Given the description of an element on the screen output the (x, y) to click on. 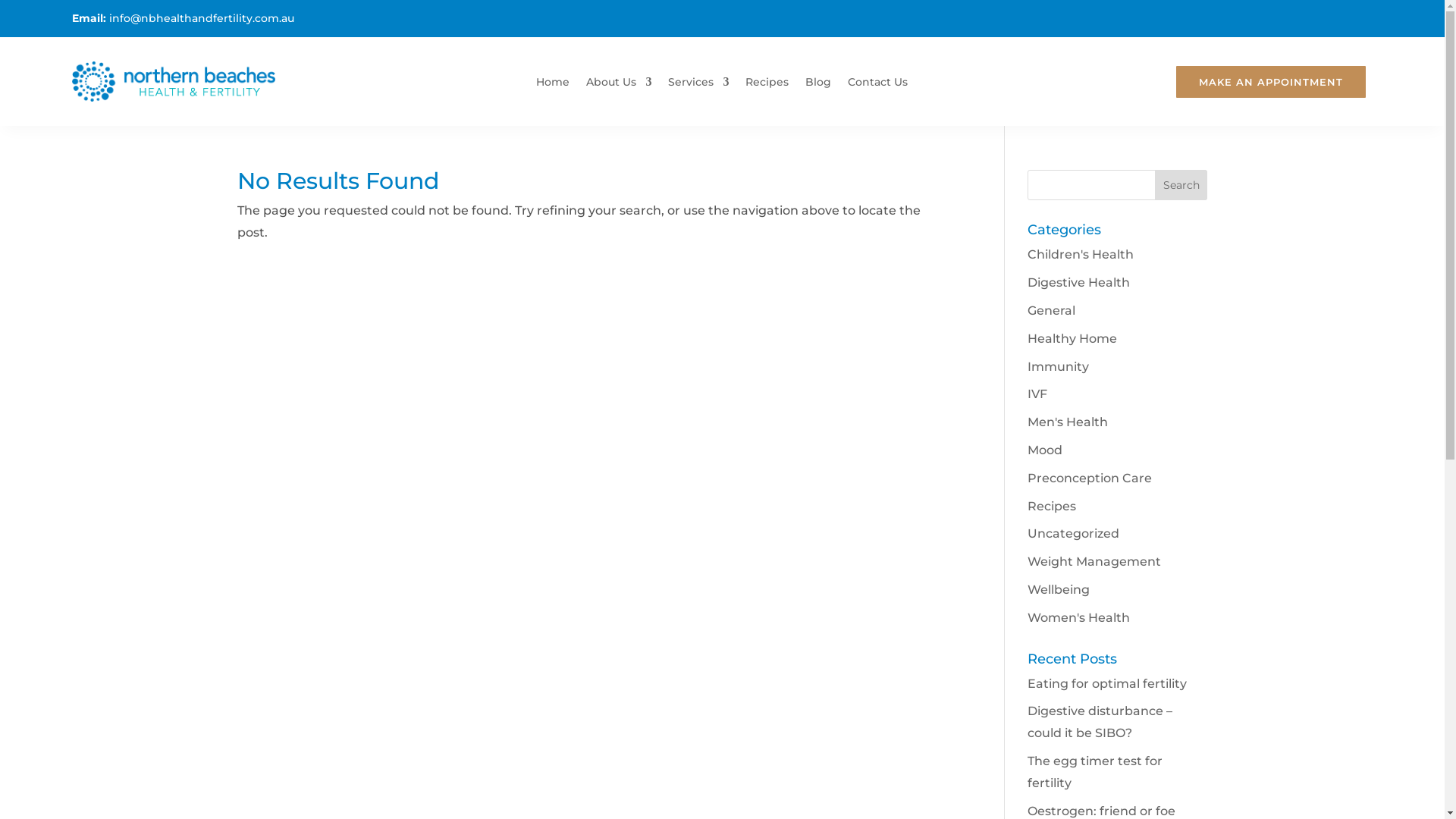
Uncategorized Element type: text (1073, 533)
Healthy Home Element type: text (1072, 338)
Preconception Care Element type: text (1089, 477)
IVF Element type: text (1037, 393)
Eating for optimal fertility Element type: text (1106, 683)
Services Element type: text (698, 84)
Weight Management Element type: text (1094, 561)
Wellbeing Element type: text (1058, 589)
Recipes Element type: text (1051, 505)
The egg timer test for fertility Element type: text (1094, 771)
Immunity Element type: text (1057, 366)
Northern Beaches Fertility & Naturopath Clinic Element type: hover (173, 81)
Search Element type: text (1181, 184)
Contact Us Element type: text (877, 84)
Mood Element type: text (1044, 449)
General Element type: text (1051, 310)
Children's Health Element type: text (1080, 254)
Recipes Element type: text (766, 84)
Oestrogen: friend or foe Element type: text (1101, 810)
About Us Element type: text (618, 84)
MAKE AN APPOINTMENT Element type: text (1270, 81)
Digestive Health Element type: text (1078, 282)
Men's Health Element type: text (1067, 421)
Women's Health Element type: text (1078, 617)
info@nbhealthandfertility.com.au Element type: text (201, 18)
Home Element type: text (552, 84)
Blog Element type: text (818, 84)
